Given the description of an element on the screen output the (x, y) to click on. 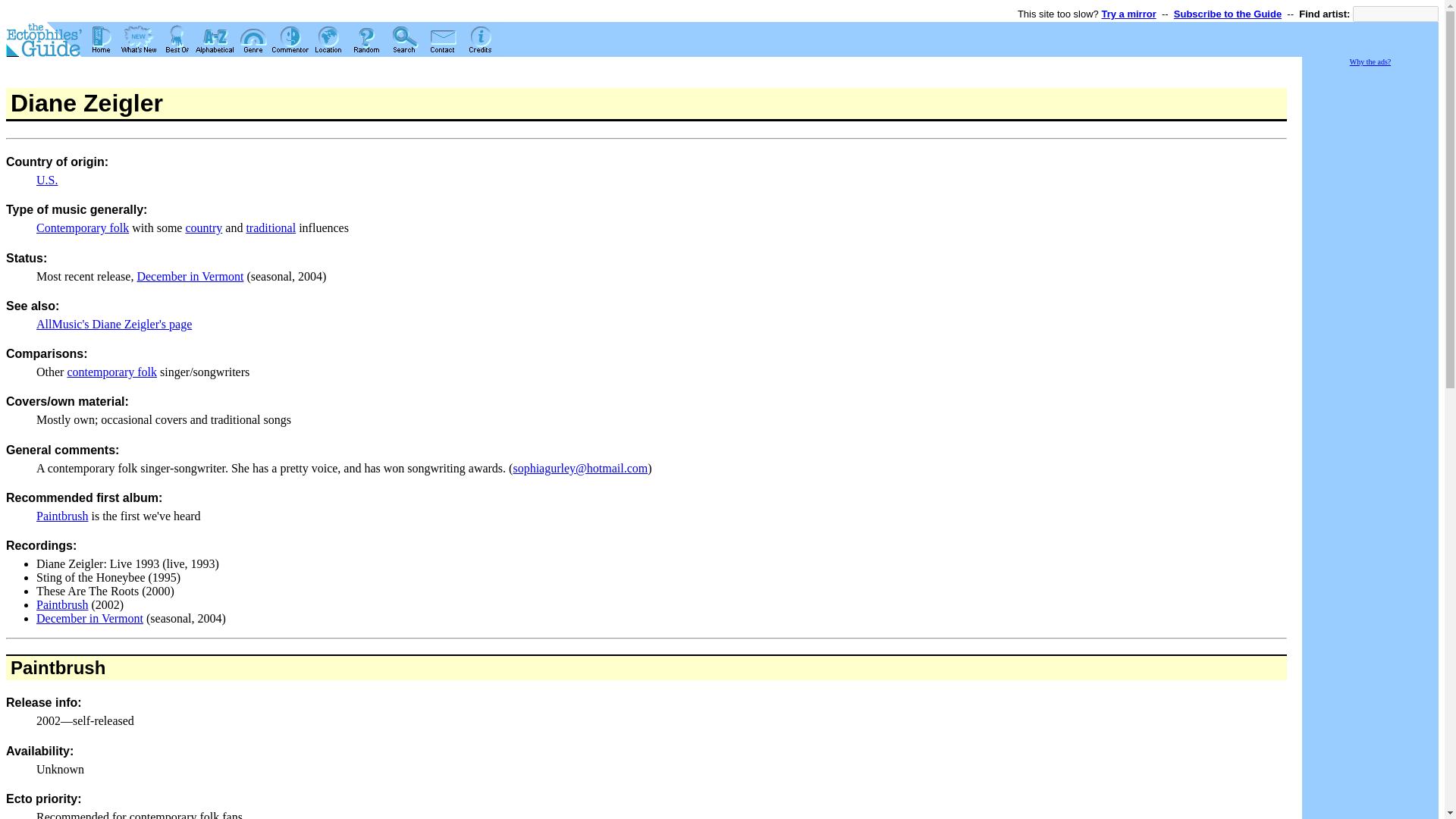
contemporary folk (111, 371)
country (203, 227)
Try a mirror (1128, 13)
AllMusic's Diane Zeigler's page (114, 323)
Why the ads? (1369, 61)
U.S. (47, 179)
December in Vermont (189, 276)
traditional (270, 227)
Subscribe to the Guide (1227, 13)
Paintbrush (61, 604)
December in Vermont (89, 617)
Contemporary folk (82, 227)
Paintbrush (61, 515)
Paintbrush (57, 667)
